Given the description of an element on the screen output the (x, y) to click on. 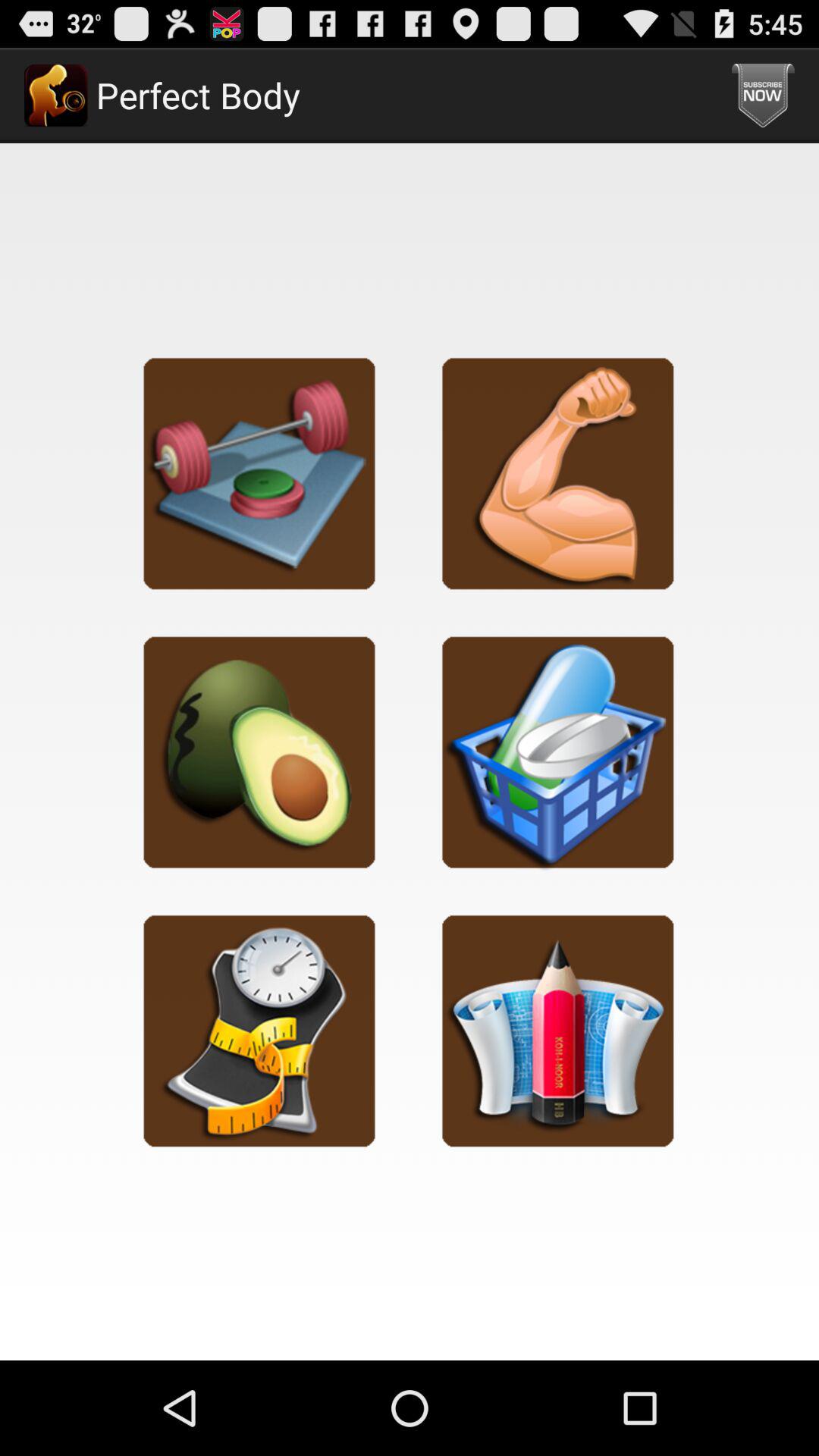
turn on the icon below the perfect body app (259, 472)
